Given the description of an element on the screen output the (x, y) to click on. 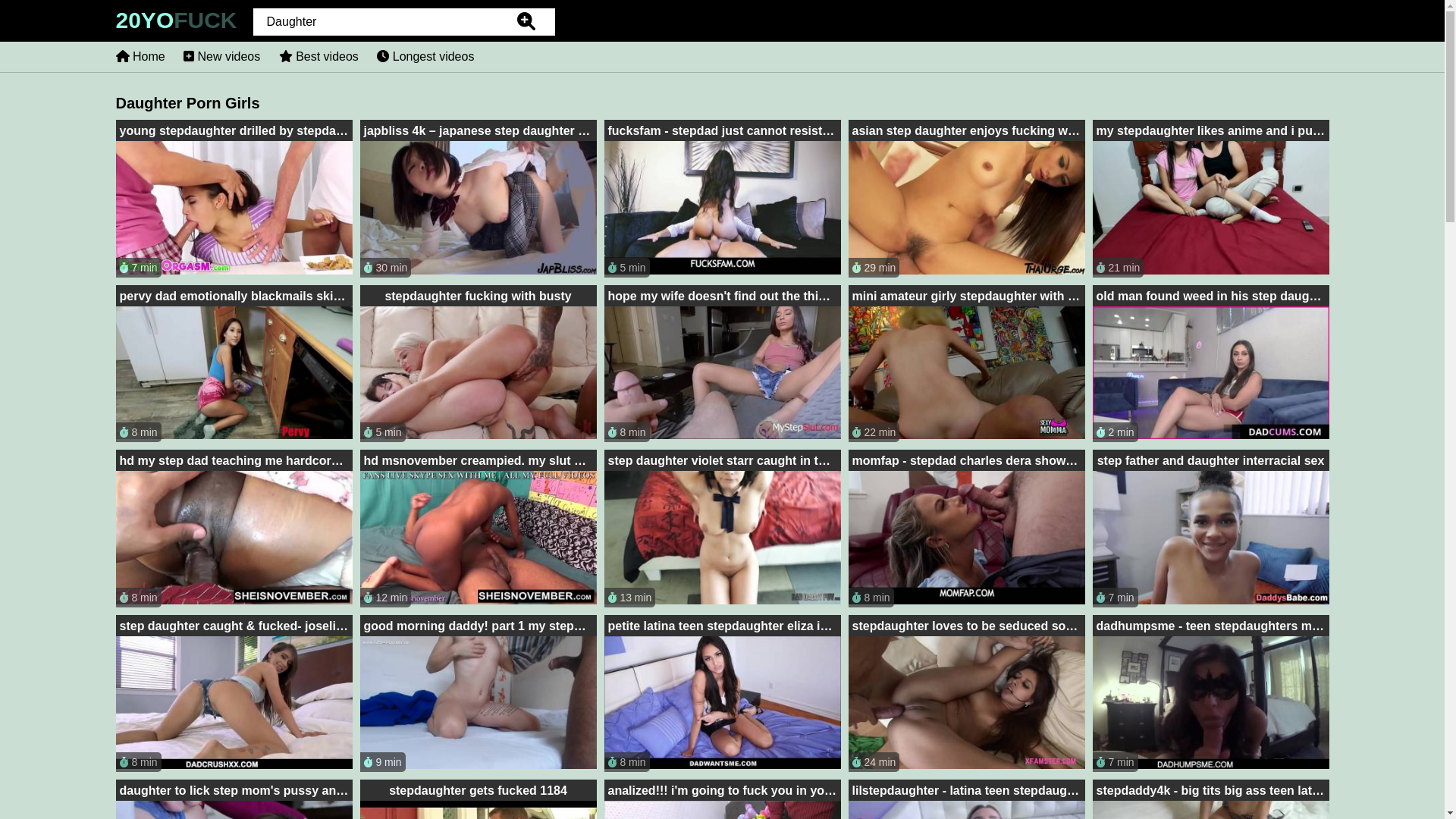
Home Element type: text (139, 56)
29 min
asian step daughter enjoys fucking with large dicks Element type: text (965, 198)
20YOFUCK Element type: text (175, 24)
7 min
young stepdaughter drilled by stepdad and stepbrother Element type: text (233, 198)
7 min
step father and daughter interracial sex Element type: text (1210, 528)
Longest videos Element type: text (424, 56)
5 min
stepdaughter fucking with busty Element type: text (477, 363)
21 min
my stepdaughter likes anime and i put a hentai on her Element type: text (1210, 198)
New videos Element type: text (221, 56)
Best videos Element type: text (318, 56)
